Given the description of an element on the screen output the (x, y) to click on. 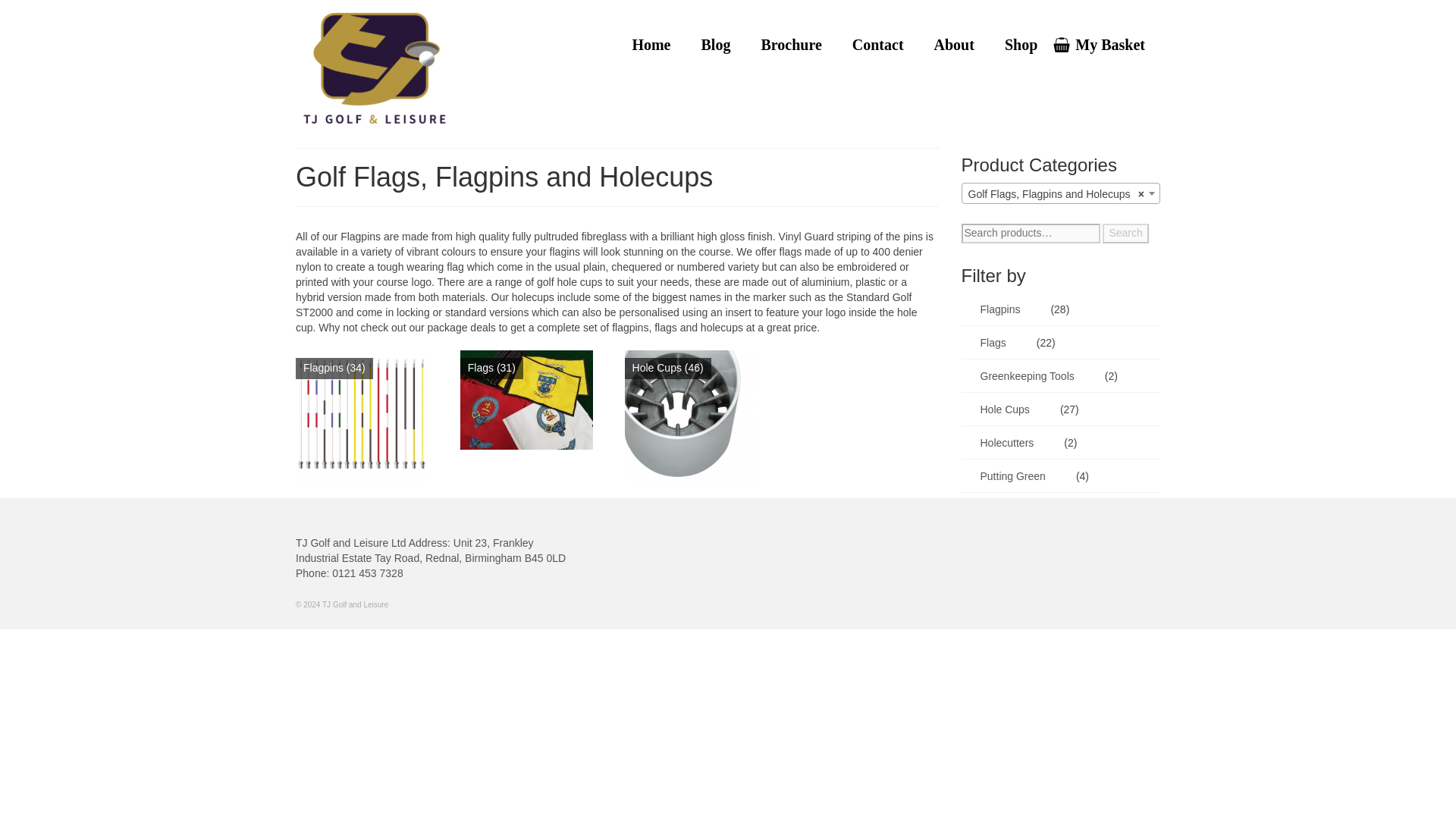
Home (650, 44)
Search (1125, 233)
Greenkeeping Tools (1023, 376)
Holecutters (1002, 442)
Flagpins (996, 309)
Contact (877, 44)
Brochure (790, 44)
Shop (1021, 44)
Hole Cups (1000, 409)
Blog (715, 44)
Golf Flags, Flagpins and Holecups (1059, 193)
My Basket (1106, 44)
About (954, 44)
Flags (988, 342)
Putting Green (1008, 476)
